Given the description of an element on the screen output the (x, y) to click on. 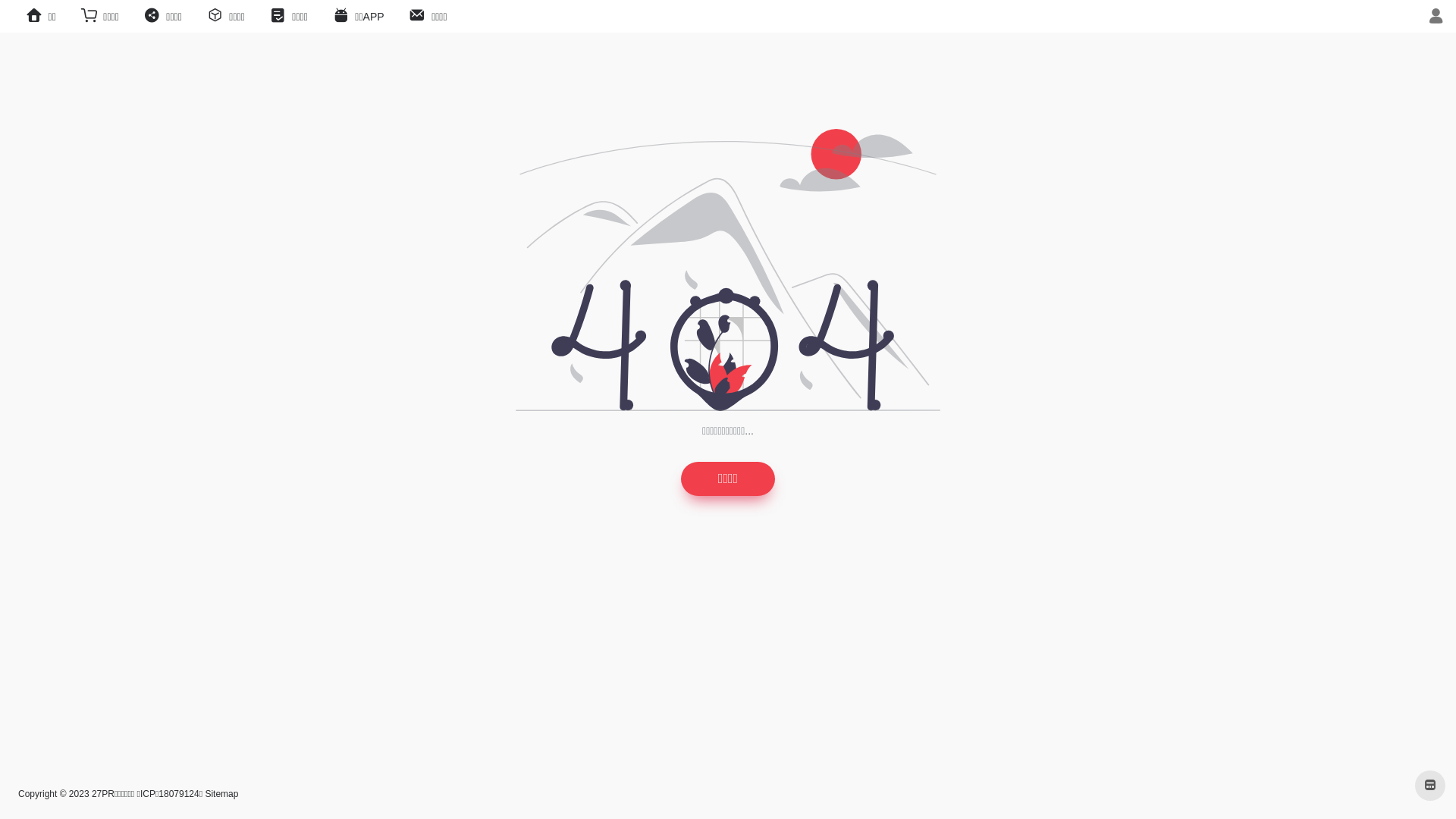
Sitemap Element type: text (221, 793)
